Given the description of an element on the screen output the (x, y) to click on. 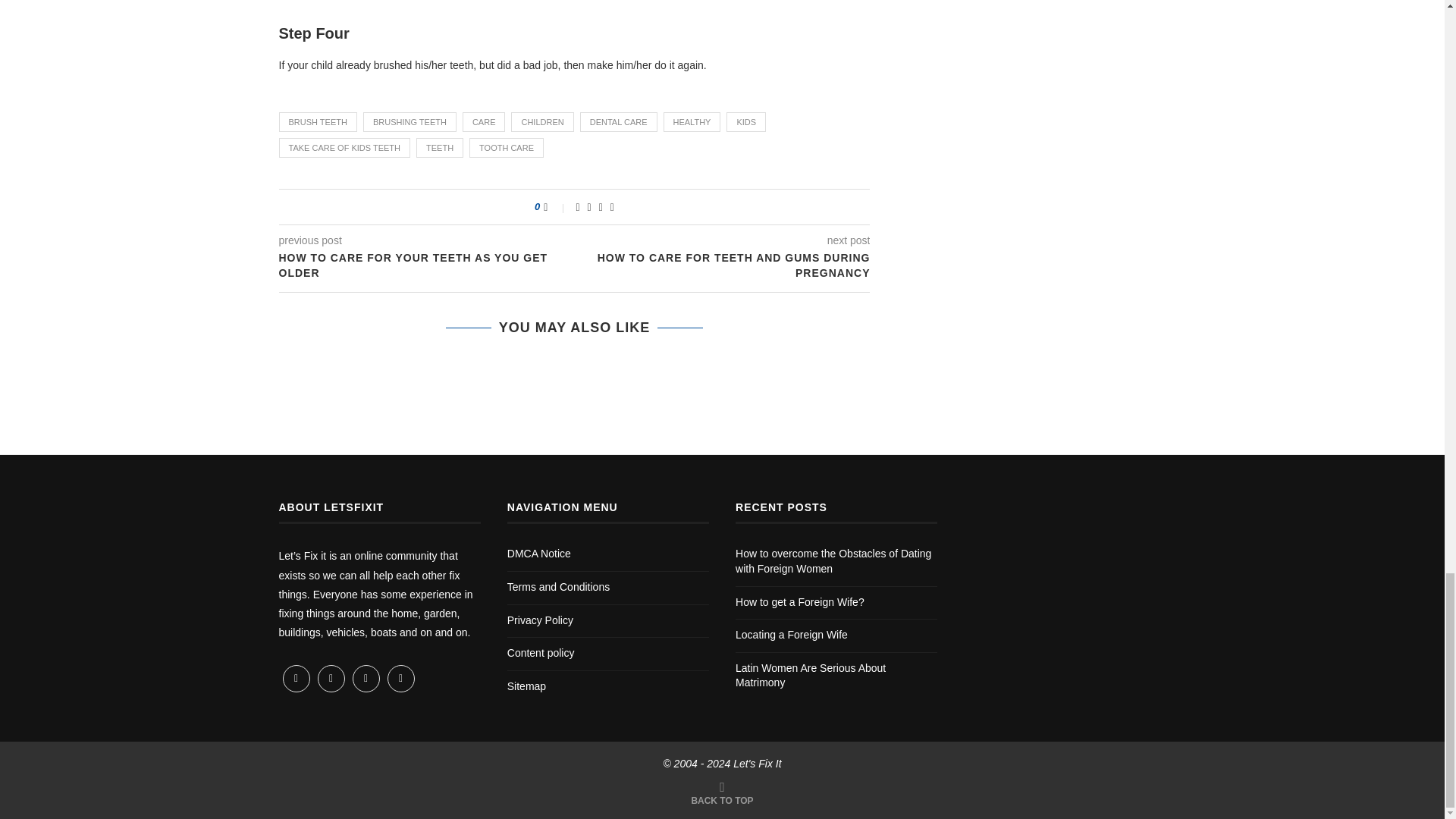
Like (555, 206)
